Given the description of an element on the screen output the (x, y) to click on. 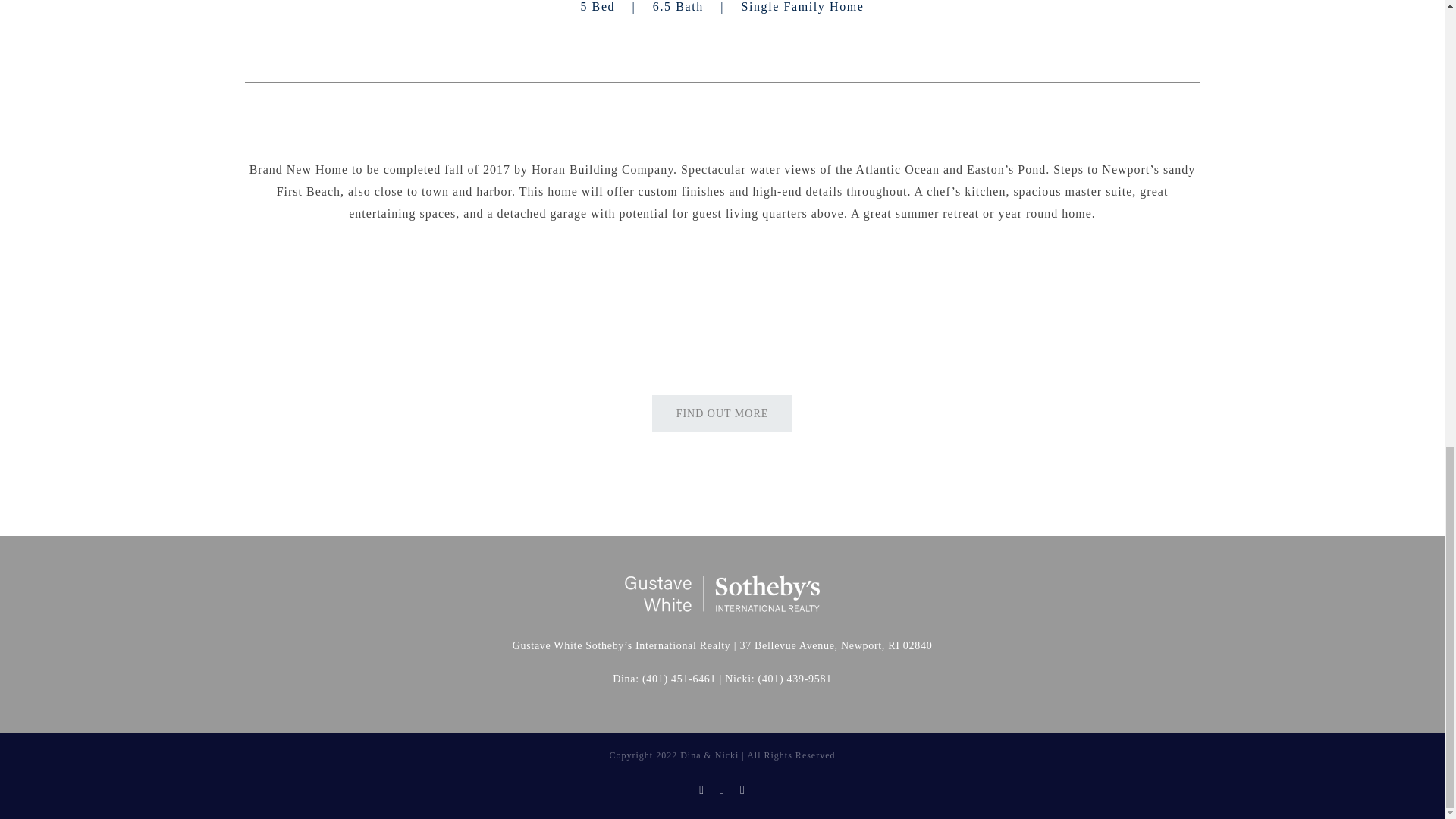
FIND OUT MORE (722, 413)
